Given the description of an element on the screen output the (x, y) to click on. 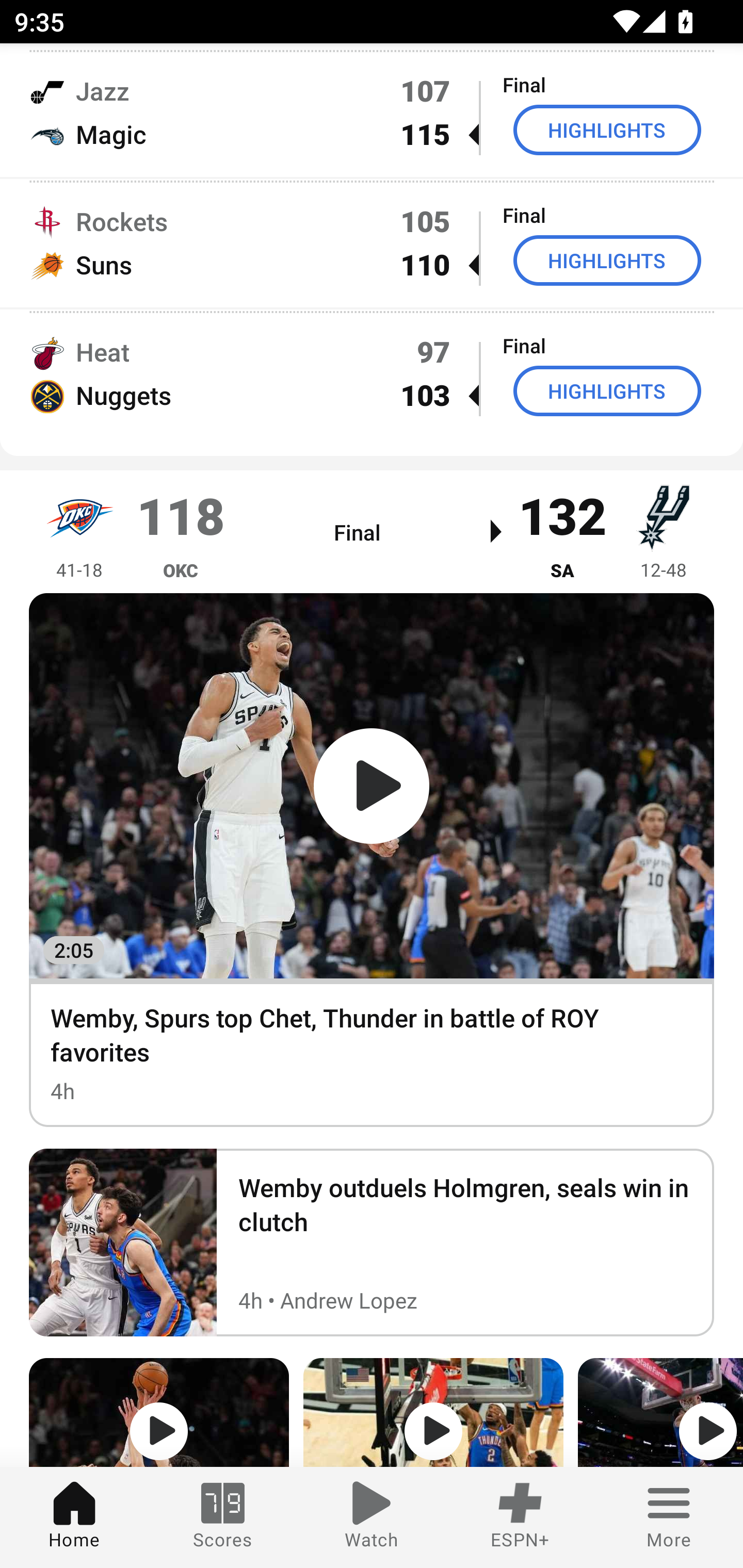
Jazz 107 Final Magic 115  HIGHLIGHTS (371, 112)
HIGHLIGHTS (607, 130)
Rockets 105 Final Suns 110  HIGHLIGHTS (371, 242)
HIGHLIGHTS (607, 260)
Heat 97 Final Nuggets 103  HIGHLIGHTS (371, 372)
HIGHLIGHTS (607, 390)
 (158, 1412)
 (433, 1412)
 (660, 1412)
Scores (222, 1517)
Watch (371, 1517)
ESPN+ (519, 1517)
More (668, 1517)
